Given the description of an element on the screen output the (x, y) to click on. 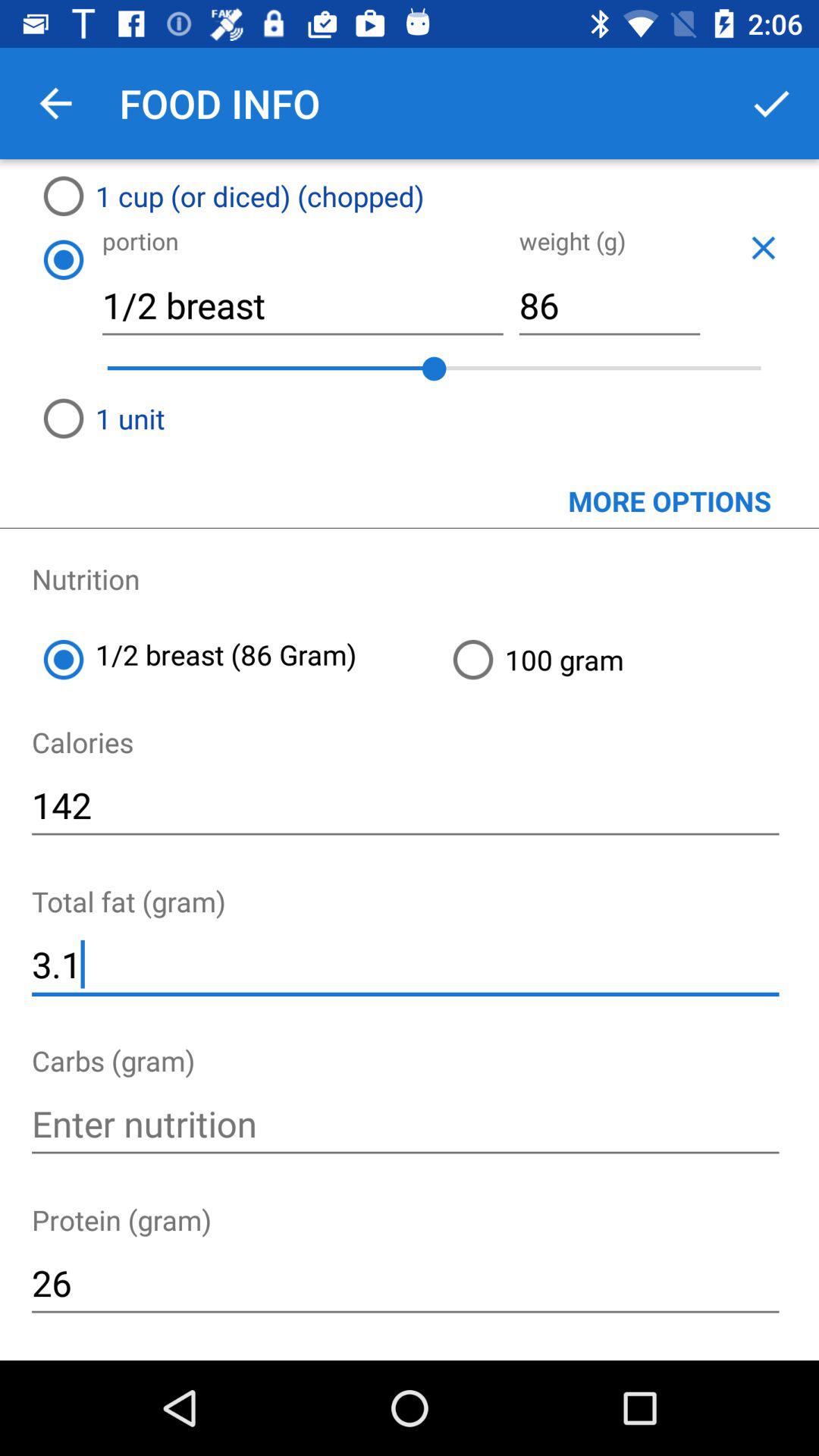
swipe until 1 cup or (343, 196)
